Given the description of an element on the screen output the (x, y) to click on. 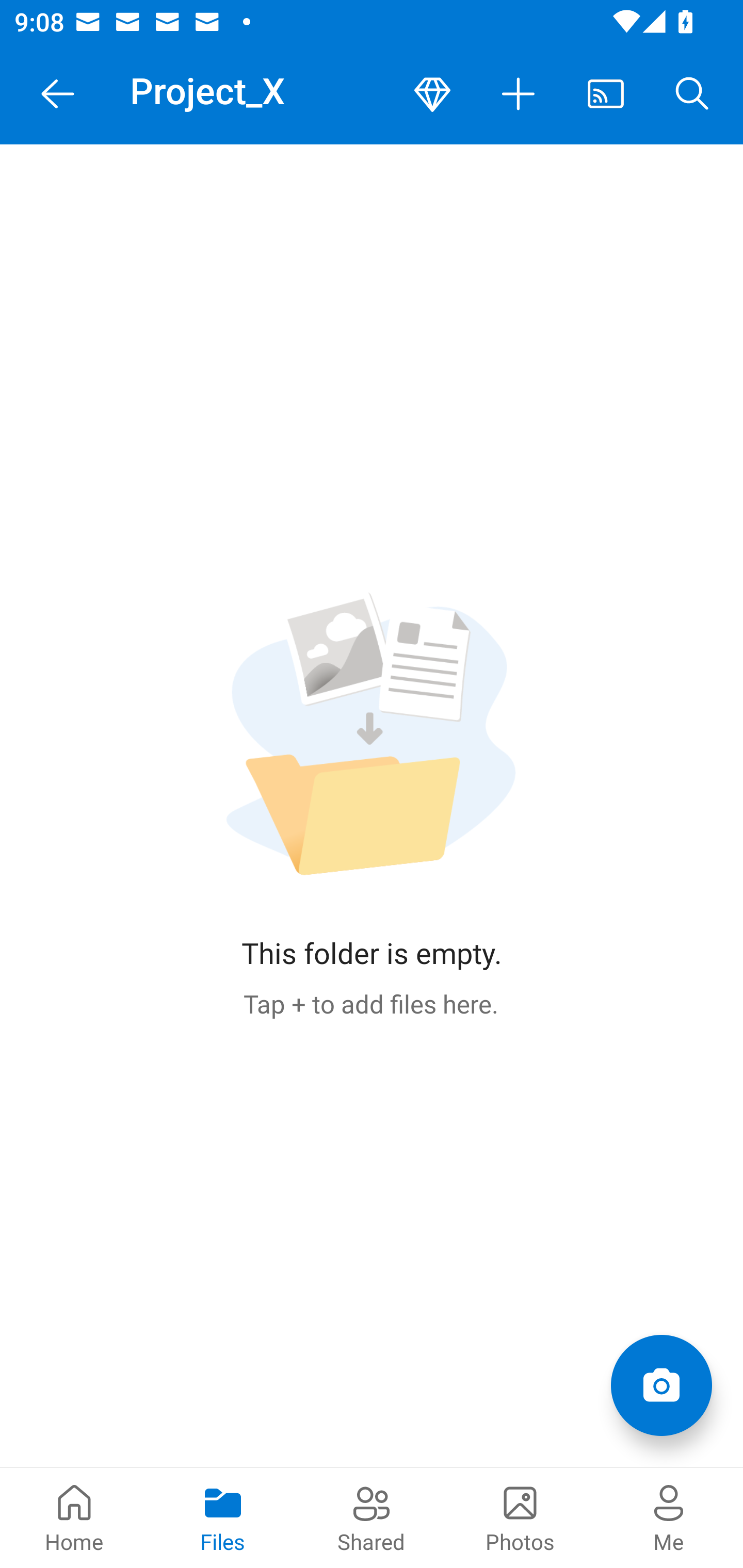
Navigate Up (57, 93)
Cast. Disconnected (605, 93)
Premium button (432, 93)
More actions button (518, 93)
Search button (692, 93)
Add items Scan (660, 1385)
Home pivot Home (74, 1517)
Shared pivot Shared (371, 1517)
Photos pivot Photos (519, 1517)
Me pivot Me (668, 1517)
